Given the description of an element on the screen output the (x, y) to click on. 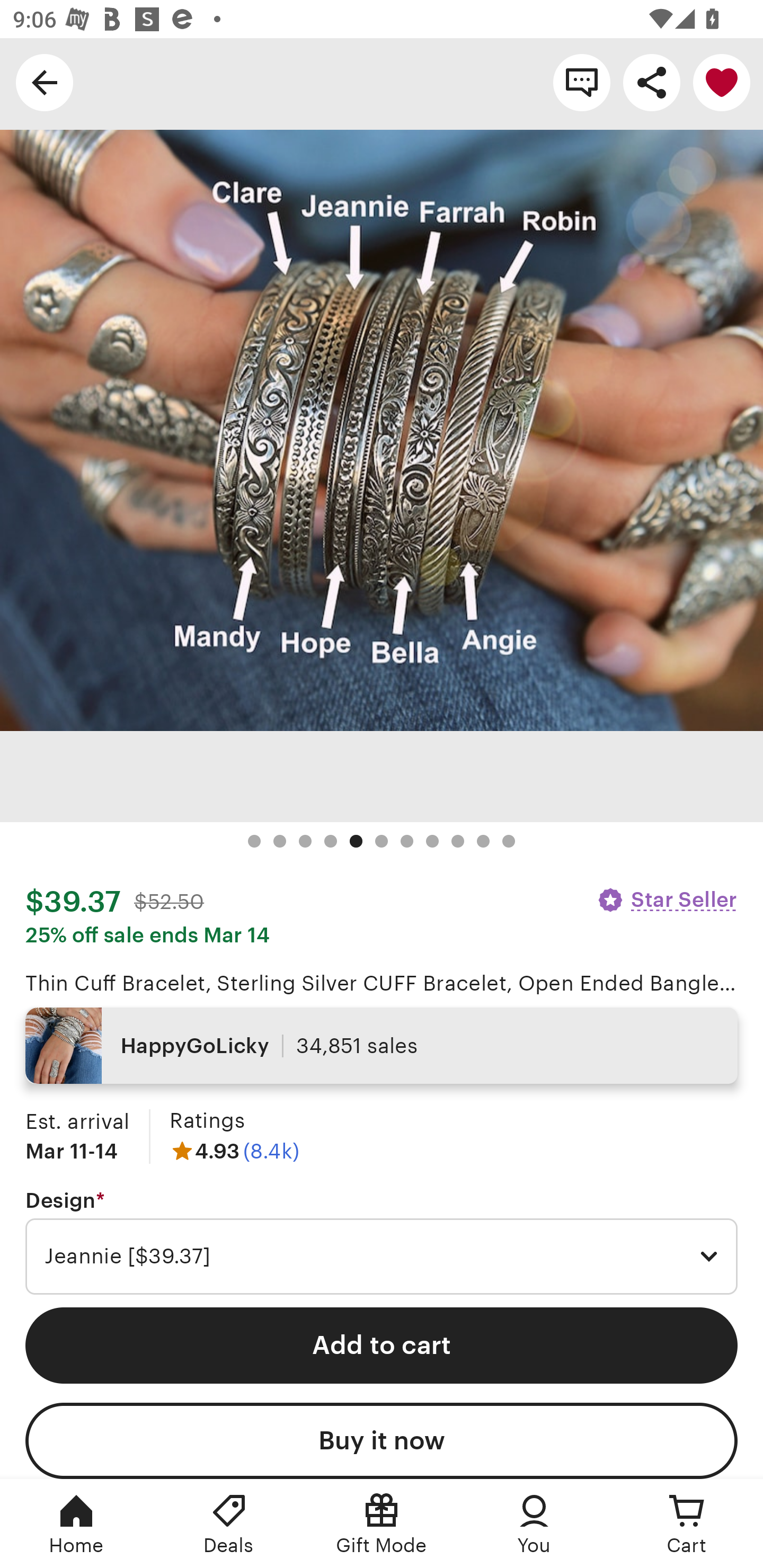
Navigate up (44, 81)
Contact shop (581, 81)
Share (651, 81)
Star Seller (666, 899)
HappyGoLicky 34,851 sales (381, 1045)
Ratings (206, 1120)
4.93 (8.4k) (234, 1150)
Design * Required Jeannie [$39.37] (381, 1241)
Jeannie [$39.37] (381, 1256)
Add to cart (381, 1344)
Buy it now (381, 1440)
Deals (228, 1523)
Gift Mode (381, 1523)
You (533, 1523)
Cart (686, 1523)
